Given the description of an element on the screen output the (x, y) to click on. 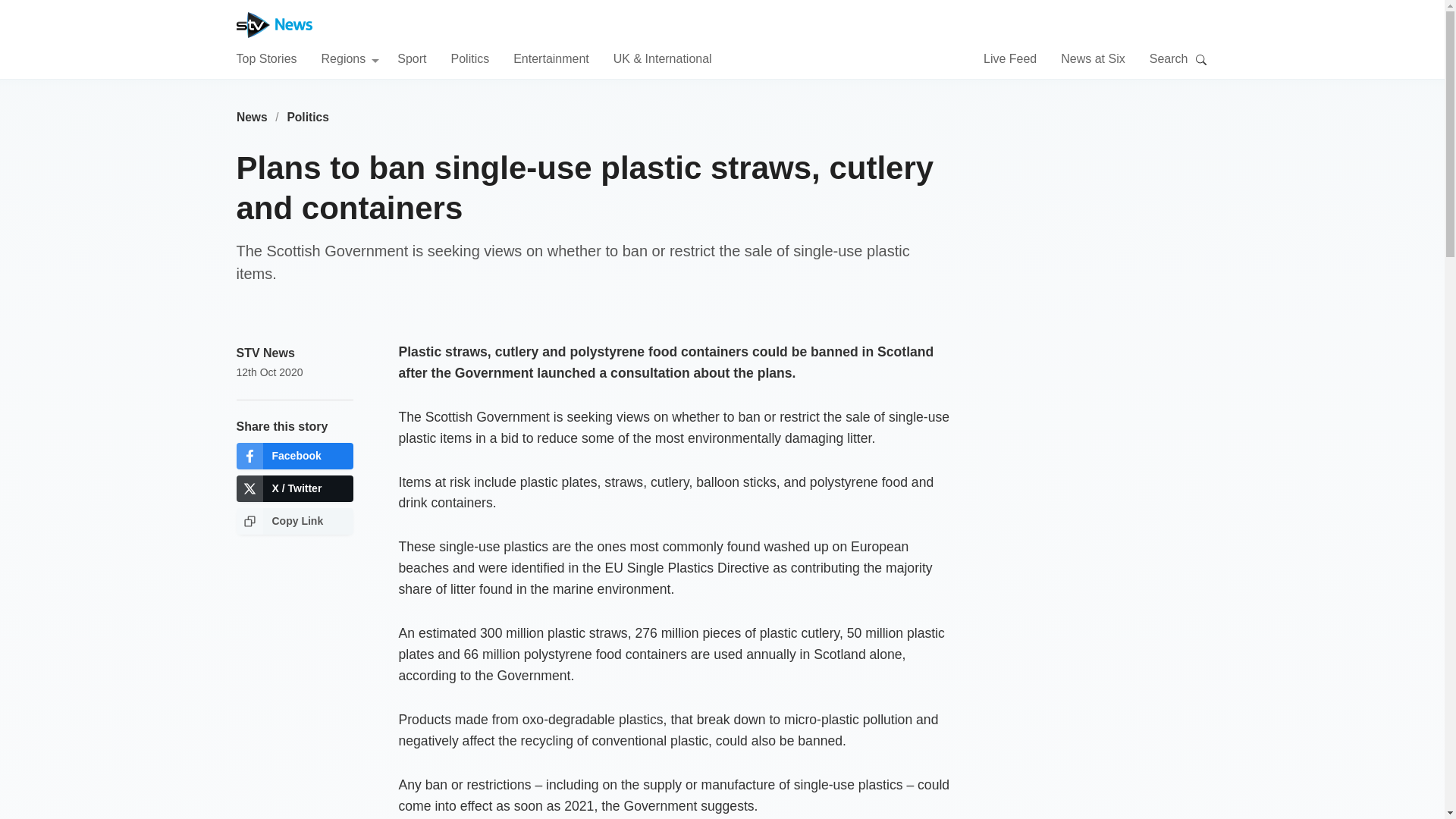
Search (1201, 59)
Politics (469, 57)
News (252, 116)
Live Feed (1010, 57)
Entertainment (551, 57)
News at Six (1092, 57)
Facebook (294, 456)
Politics (307, 116)
Regions (350, 57)
Top Stories (266, 57)
